Given the description of an element on the screen output the (x, y) to click on. 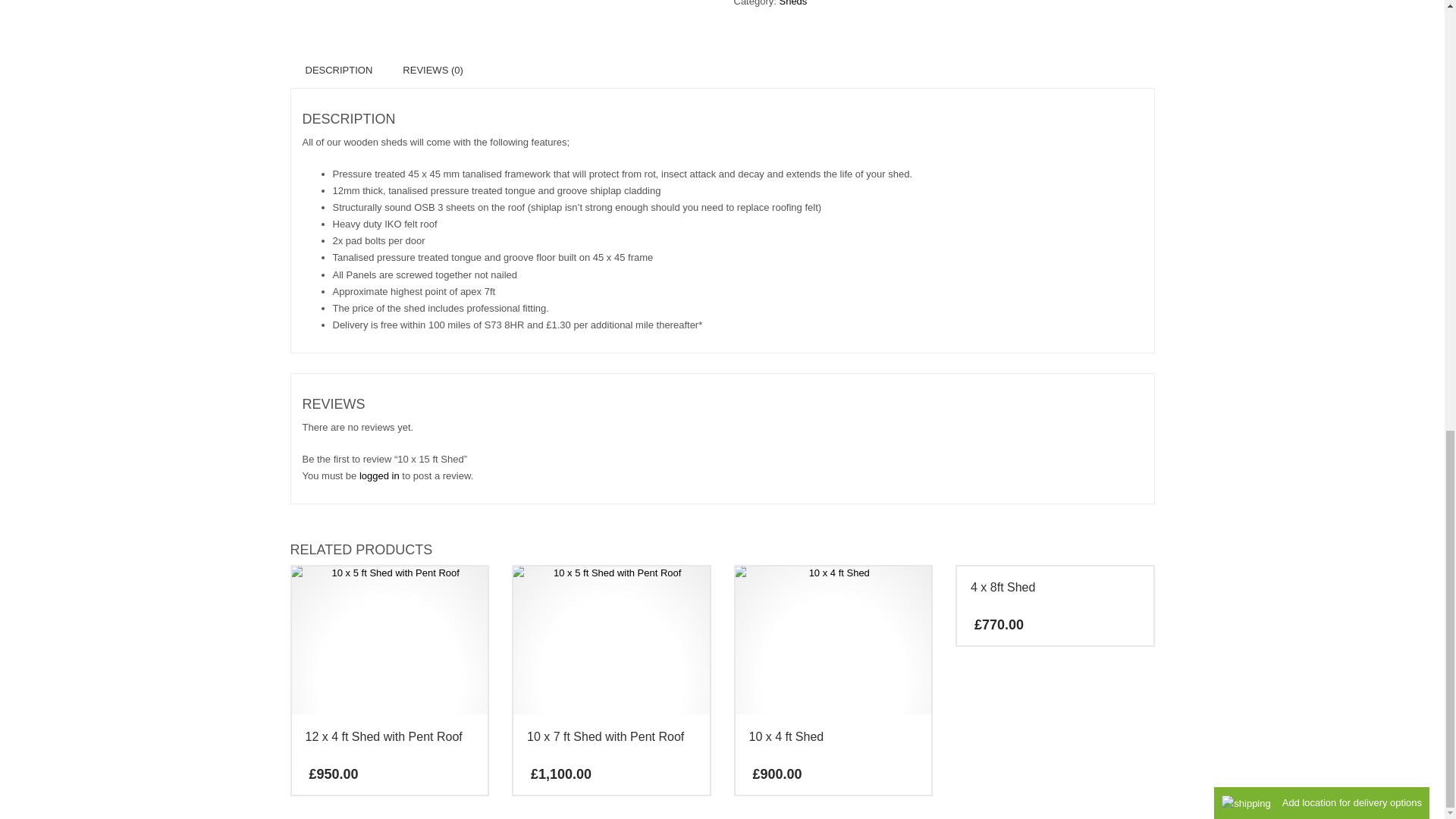
IMG-20221006-WA0011 (389, 639)
